Given the description of an element on the screen output the (x, y) to click on. 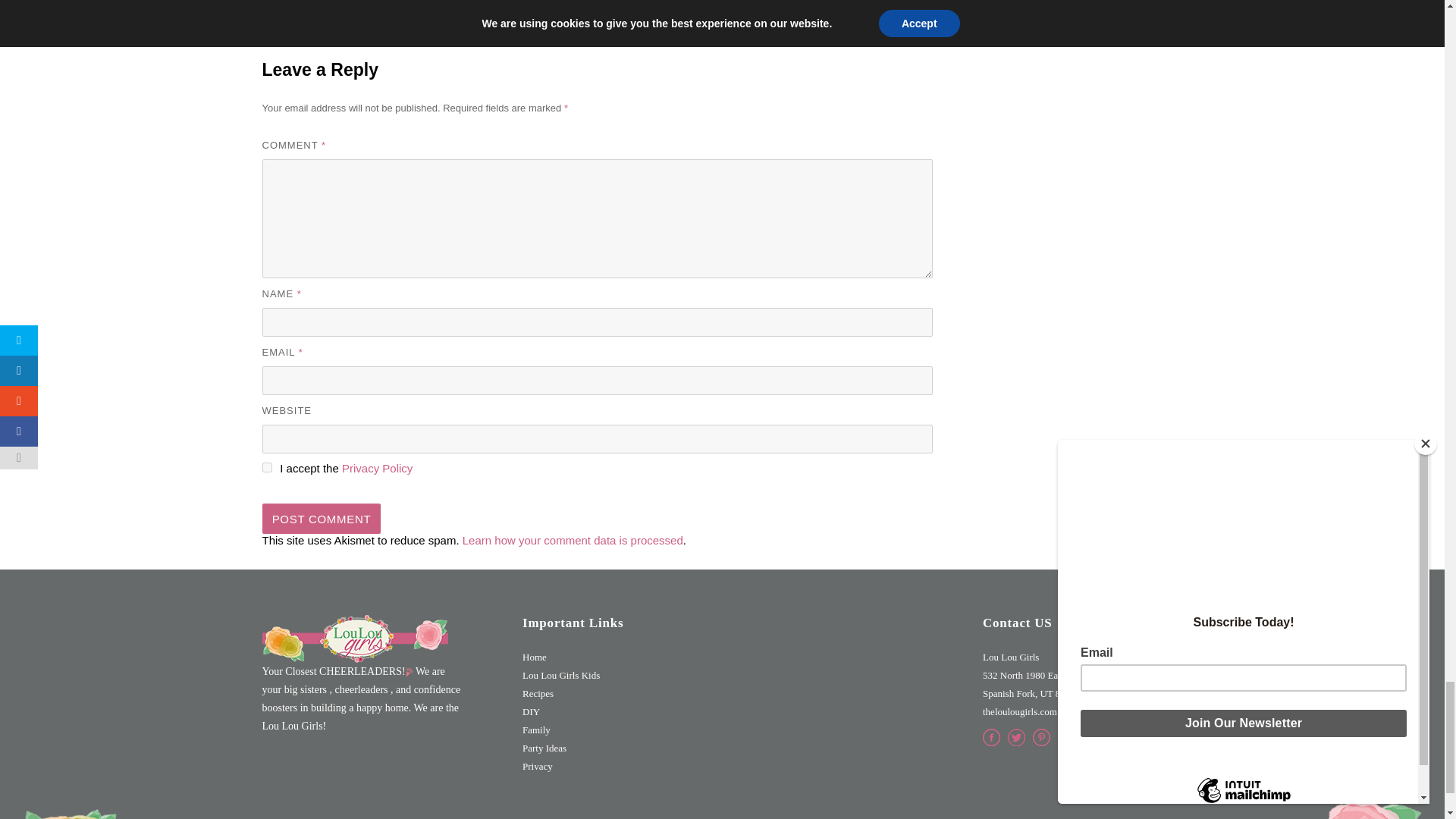
1 (267, 467)
Post Comment (321, 518)
